Given the description of an element on the screen output the (x, y) to click on. 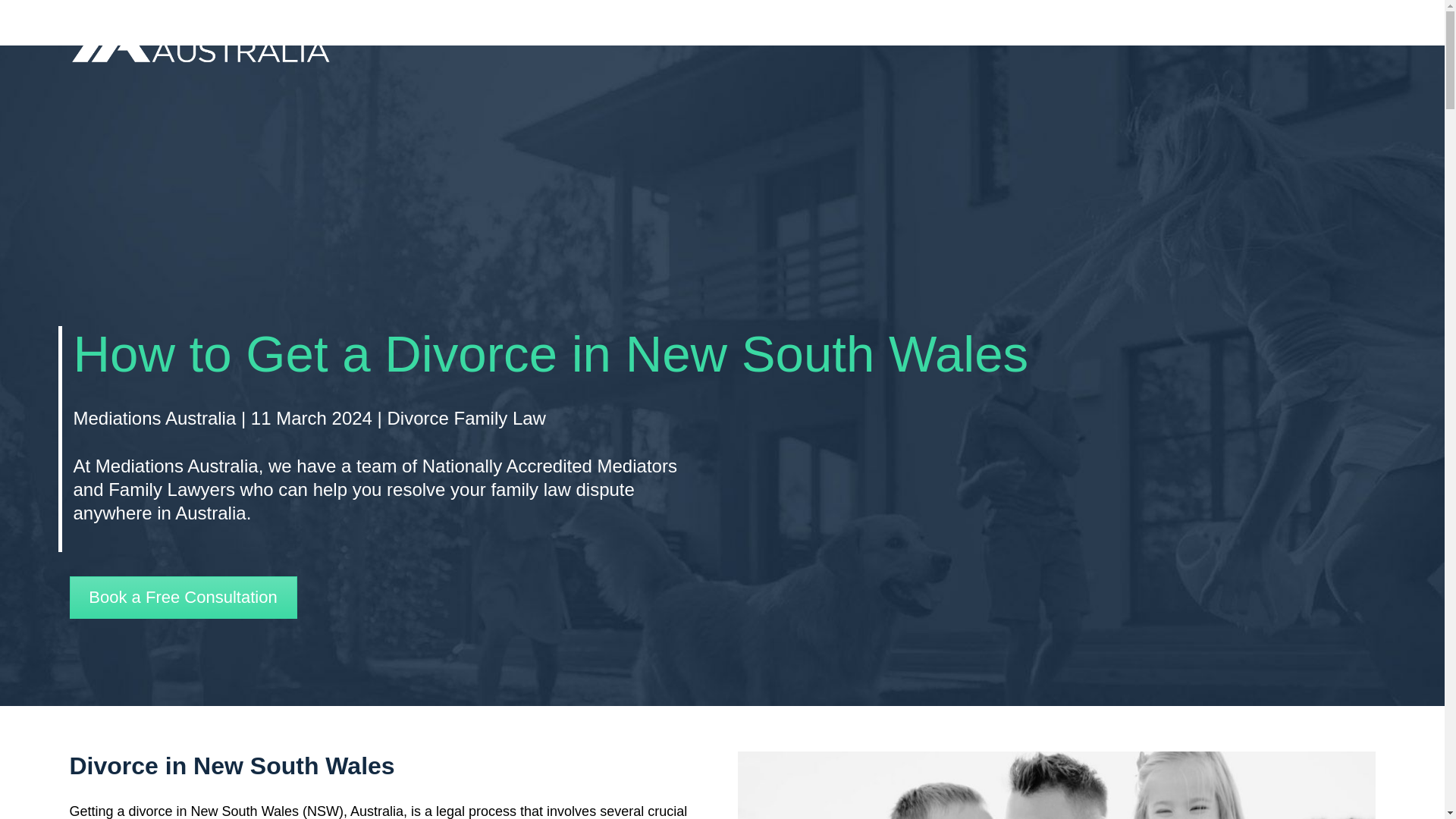
LAW FIRM BOOKINGS (896, 39)
WHO WE ARE (463, 39)
Book a Free Consultation (183, 597)
USEFUL INFORMATION (753, 39)
WHAT WE DO (572, 39)
LOCATIONS (1117, 39)
MEMBERSHIPS (1016, 39)
Skip to content (11, 31)
